Given the description of an element on the screen output the (x, y) to click on. 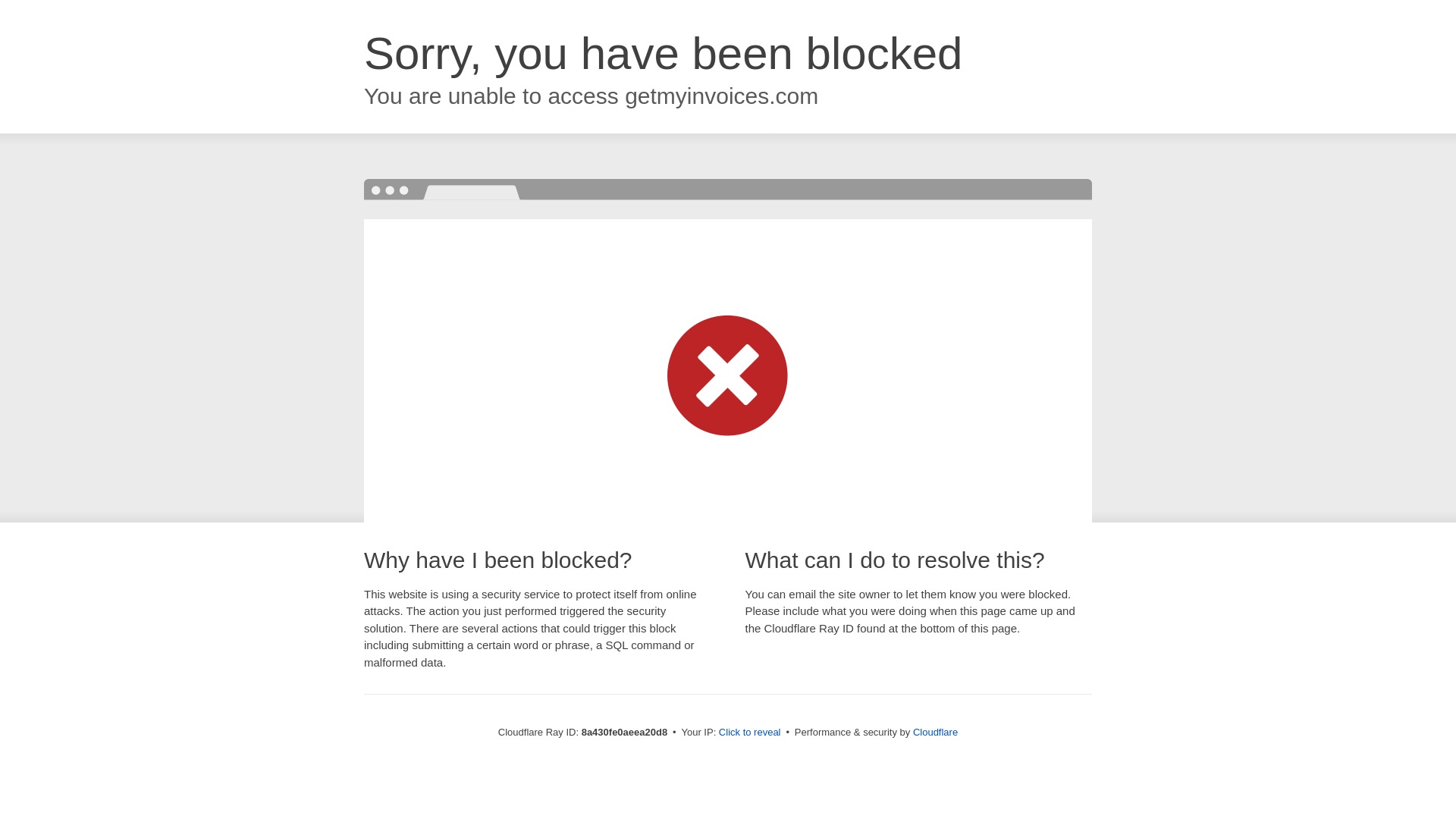
Cloudflare (935, 731)
Click to reveal (749, 732)
